Given the description of an element on the screen output the (x, y) to click on. 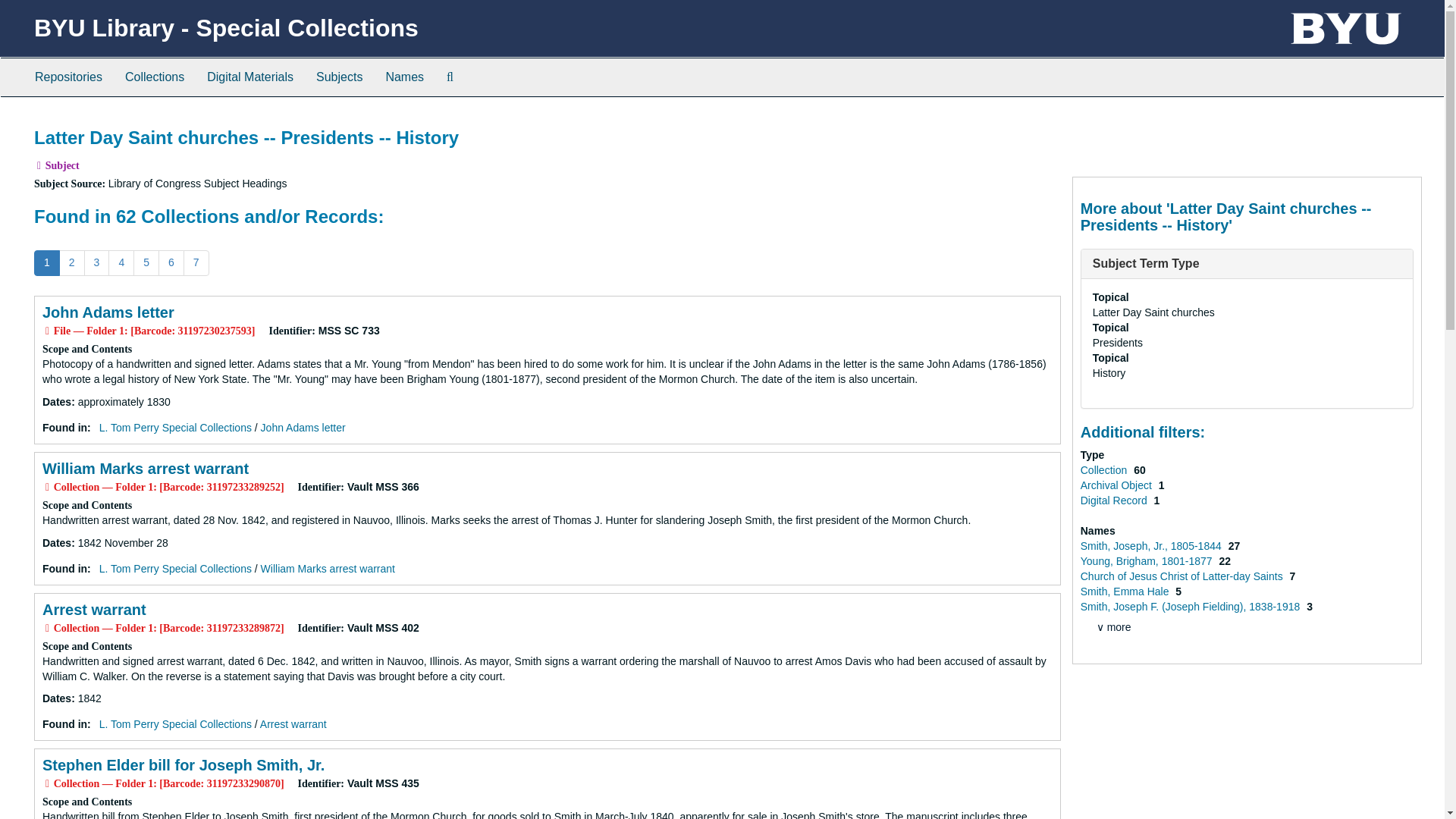
John Adams letter (303, 427)
Repositories (68, 77)
translation missing: en.dates (56, 542)
3 (97, 263)
L. Tom Perry Special Collections (175, 427)
1 (46, 263)
Arrest warrant (293, 724)
translation missing: en.dates (56, 401)
2 (71, 263)
L. Tom Perry Special Collections (175, 724)
John Adams letter (108, 312)
5 (145, 263)
Filter By 'Church of Jesus Christ of Latter-day Saints' (1182, 576)
Filter By 'Smith, Joseph, Jr., 1805-1844' (1152, 545)
Stephen Elder bill for Joseph Smith, Jr. (183, 764)
